Given the description of an element on the screen output the (x, y) to click on. 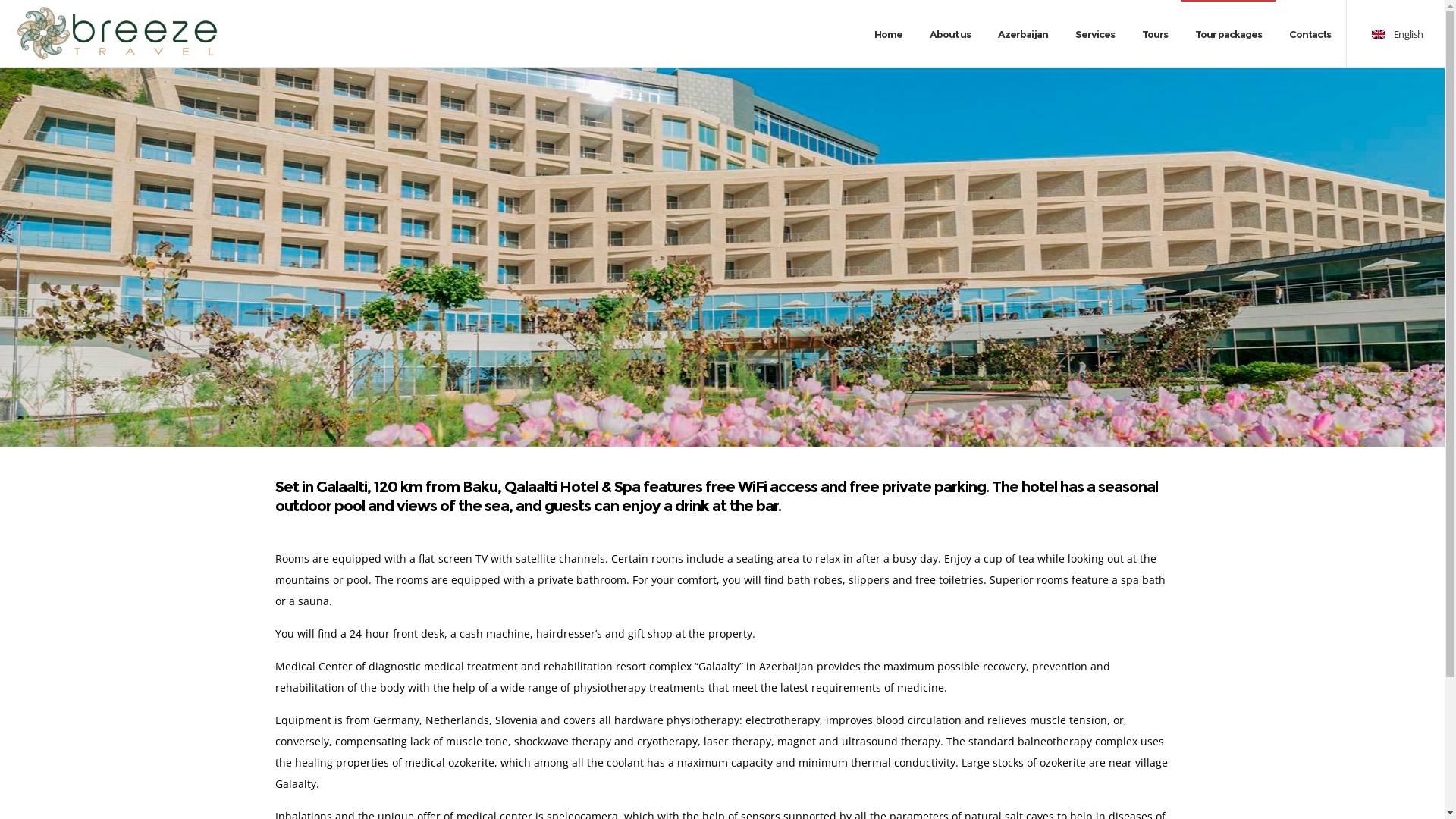
Site logo Element type: hover (117, 34)
Azerbaijan Element type: text (1022, 34)
Contacts Element type: text (1309, 34)
Tour packages Element type: text (1228, 34)
Search Element type: text (1071, 412)
About us Element type: text (949, 34)
Services Element type: text (1094, 34)
English Element type: text (1397, 34)
Tours Element type: text (1154, 34)
Home Element type: text (888, 34)
